Given the description of an element on the screen output the (x, y) to click on. 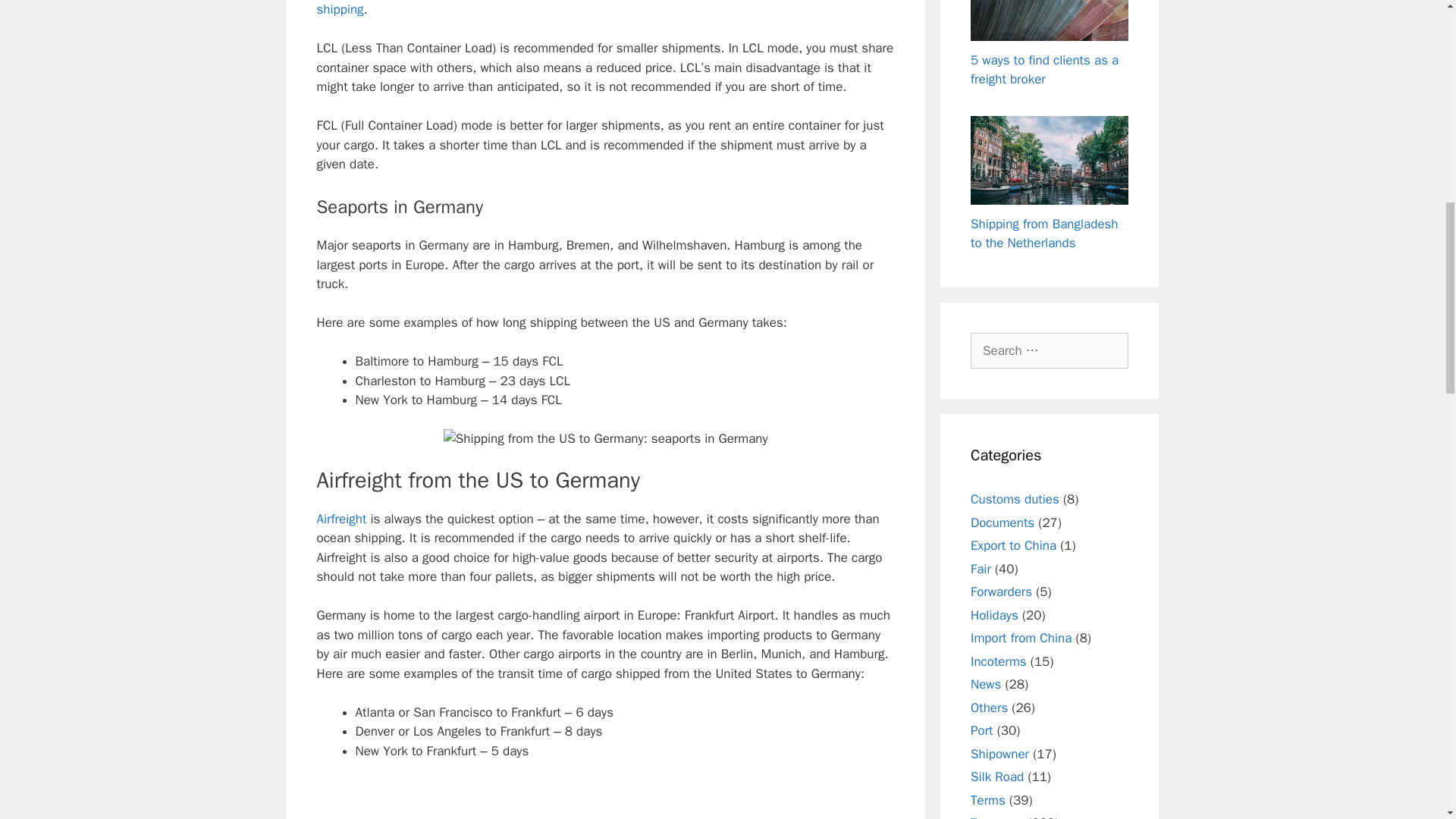
LCL and FCL shipping (593, 9)
Customs duties (1015, 498)
Airfreight (341, 519)
Search for: (1049, 350)
Forwarders (1001, 591)
Shipping from Bangladesh to the Netherlands (1044, 233)
Incoterms (998, 661)
Port (981, 730)
5 ways to find clients as a freight broker (1044, 69)
Documents (1002, 522)
Holidays (994, 615)
Others (989, 707)
News (986, 684)
Export to China (1014, 545)
Import from China (1021, 637)
